Given the description of an element on the screen output the (x, y) to click on. 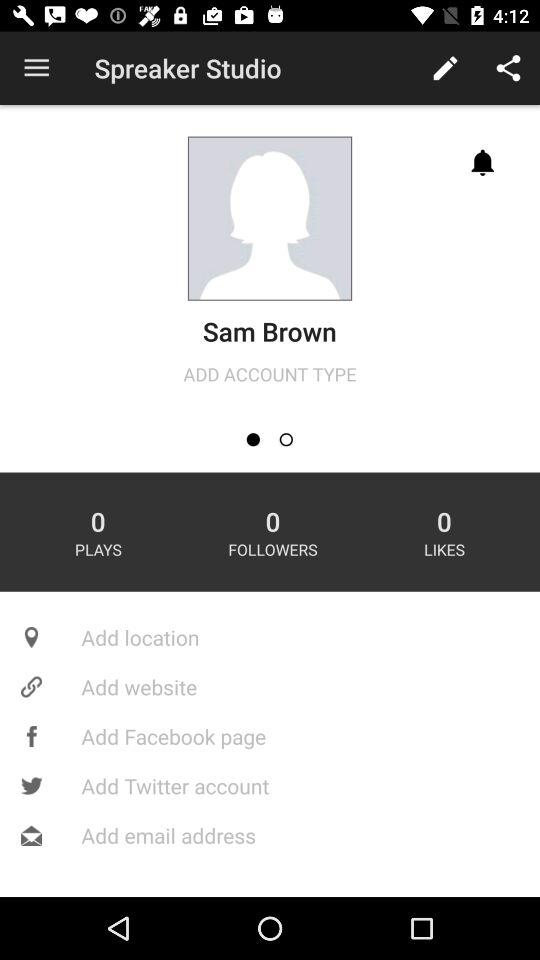
turn off item above add twitter account (270, 736)
